Given the description of an element on the screen output the (x, y) to click on. 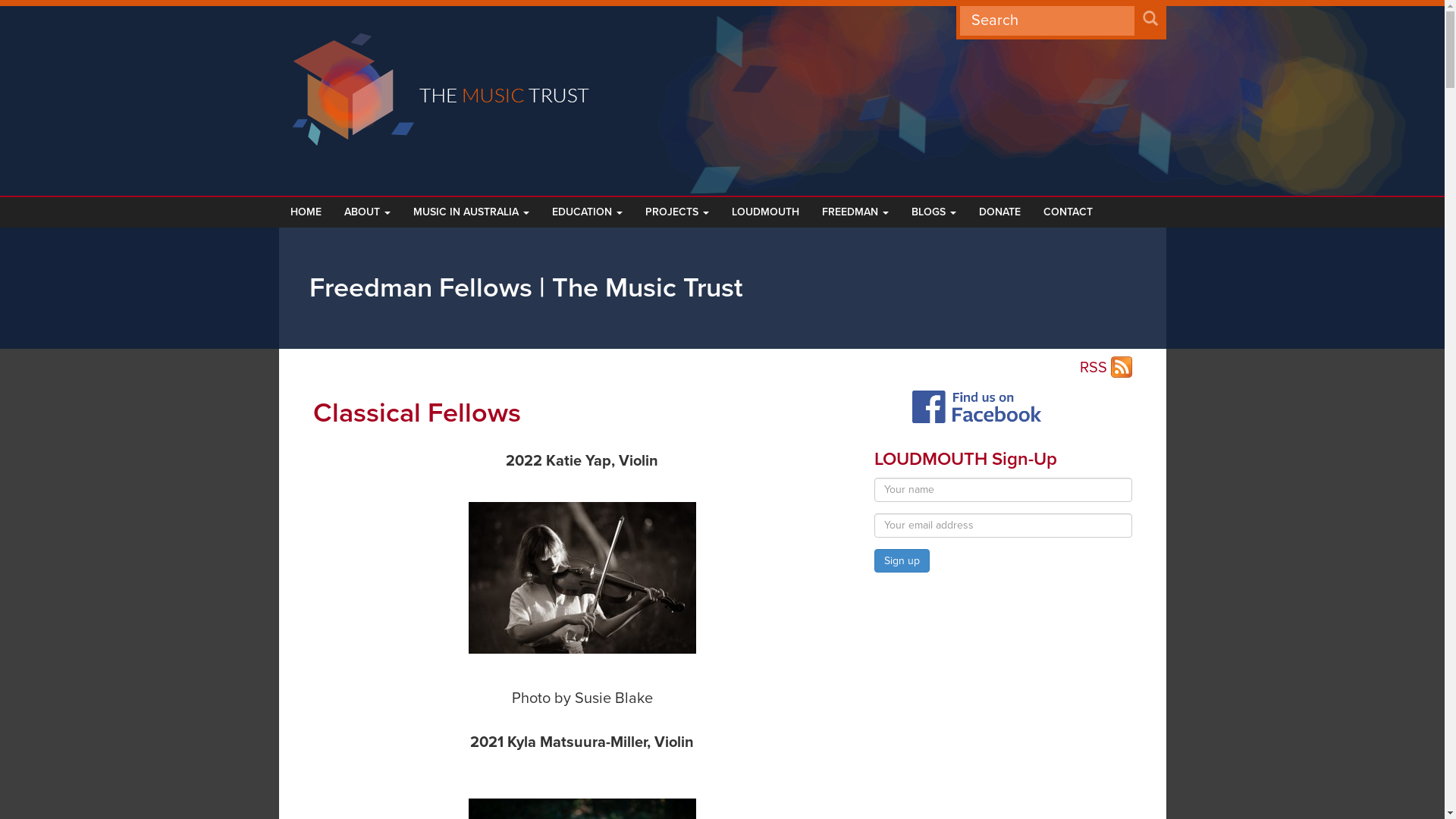
HOME Element type: text (305, 212)
MUSIC IN AUSTRALIA Element type: text (470, 212)
RSS Element type: text (1105, 368)
DONATE Element type: text (999, 212)
LOUDMOUTH Element type: text (765, 212)
PROJECTS Element type: text (676, 212)
BLOGS Element type: text (932, 212)
FREEDMAN Element type: text (854, 212)
CONTACT Element type: text (1067, 212)
ABOUT Element type: text (366, 212)
EDUCATION Element type: text (586, 212)
Sign up Element type: text (900, 560)
